Given the description of an element on the screen output the (x, y) to click on. 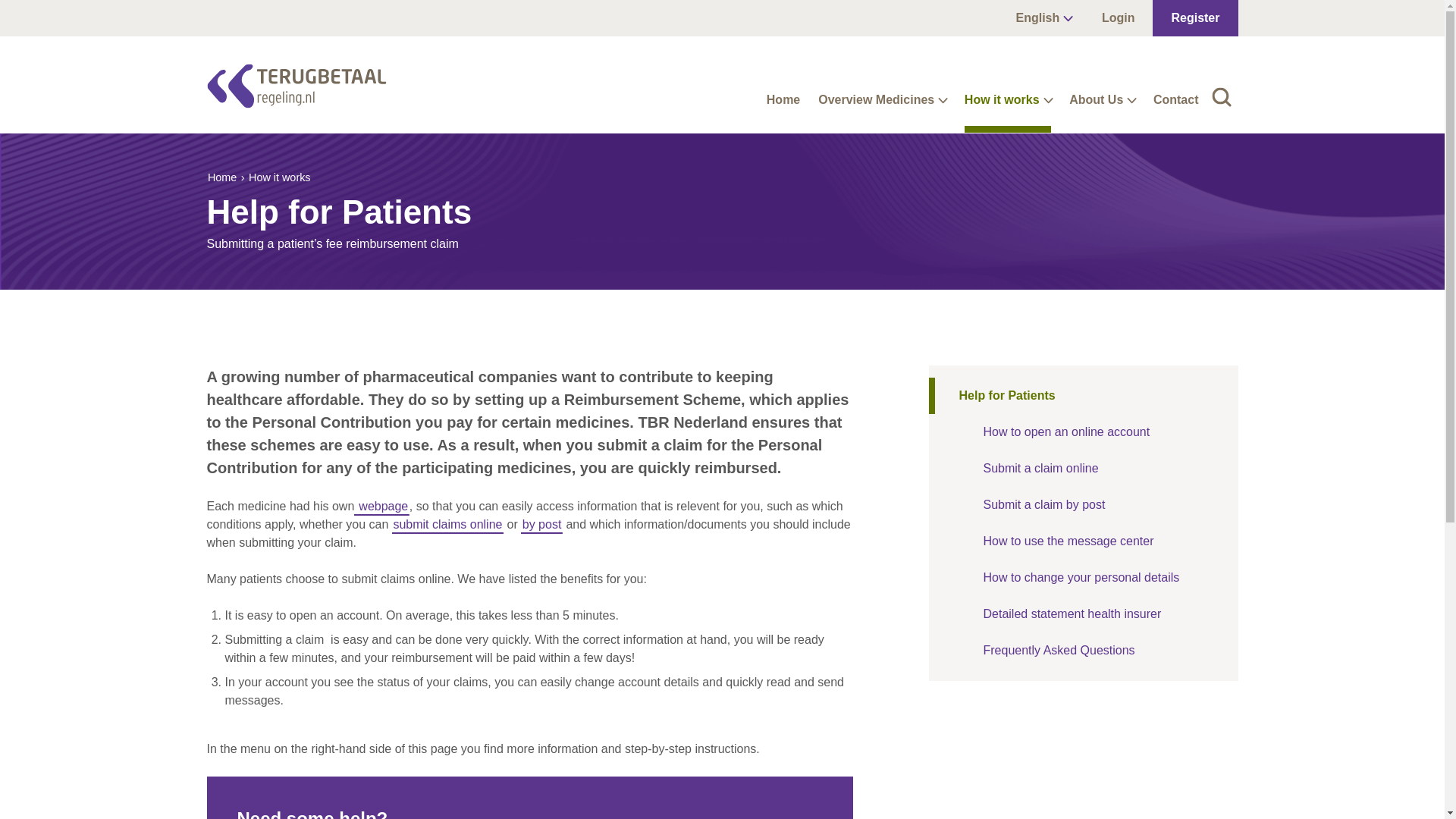
Home (780, 105)
Login (1118, 18)
Home (780, 105)
How it works (1004, 105)
Register (1195, 18)
Register (1195, 18)
Overview Medicines (879, 105)
Login (1118, 18)
English (1043, 18)
